Given the description of an element on the screen output the (x, y) to click on. 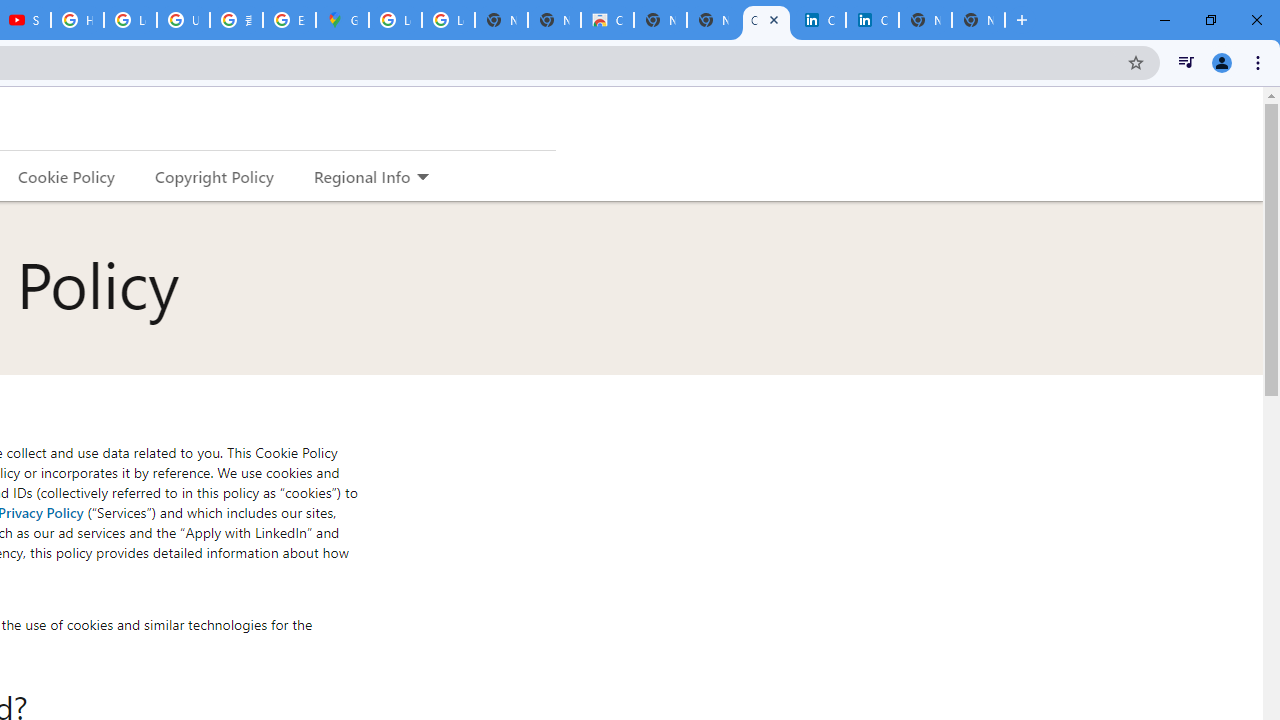
Copyright Policy (872, 20)
Expand to show more links for Regional Info (422, 178)
New Tab (978, 20)
Explore new street-level details - Google Maps Help (289, 20)
Cookie Policy (66, 176)
Cookie Policy | LinkedIn (766, 20)
Regional Info (361, 176)
Cookie Policy | LinkedIn (819, 20)
